Given the description of an element on the screen output the (x, y) to click on. 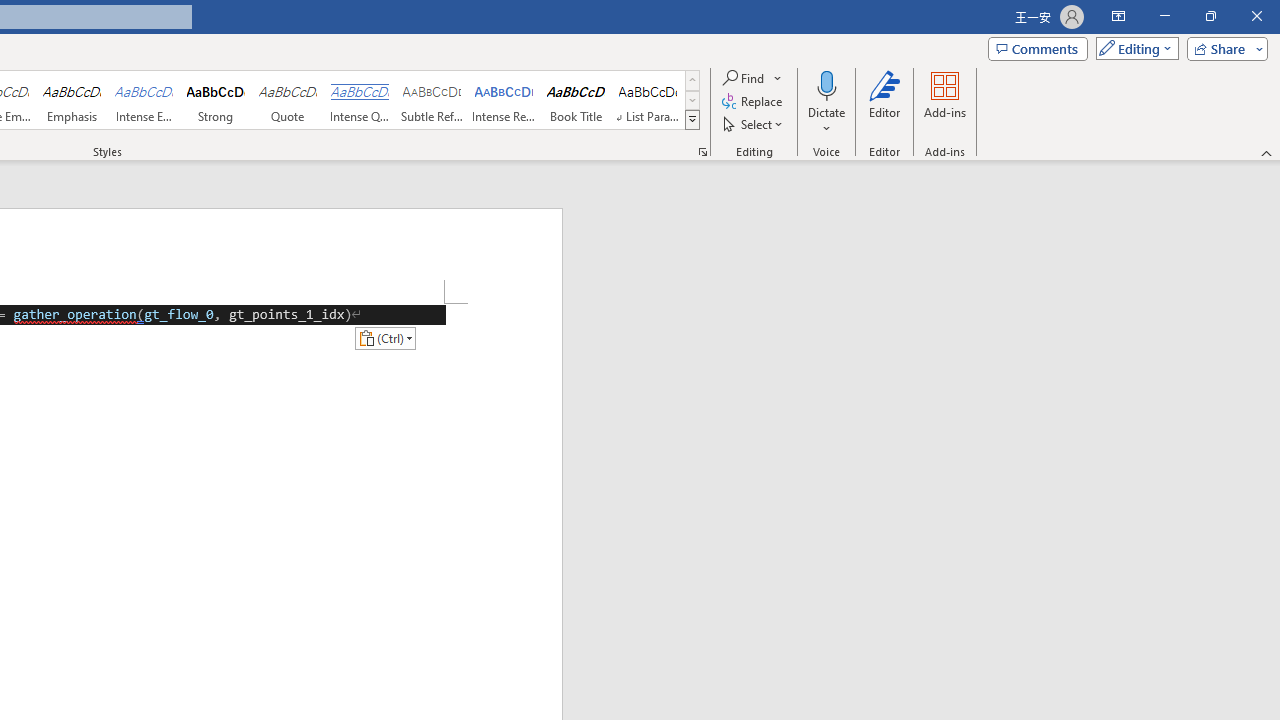
Book Title (575, 100)
Intense Reference (504, 100)
Strong (216, 100)
Intense Quote (359, 100)
Quote (287, 100)
